Given the description of an element on the screen output the (x, y) to click on. 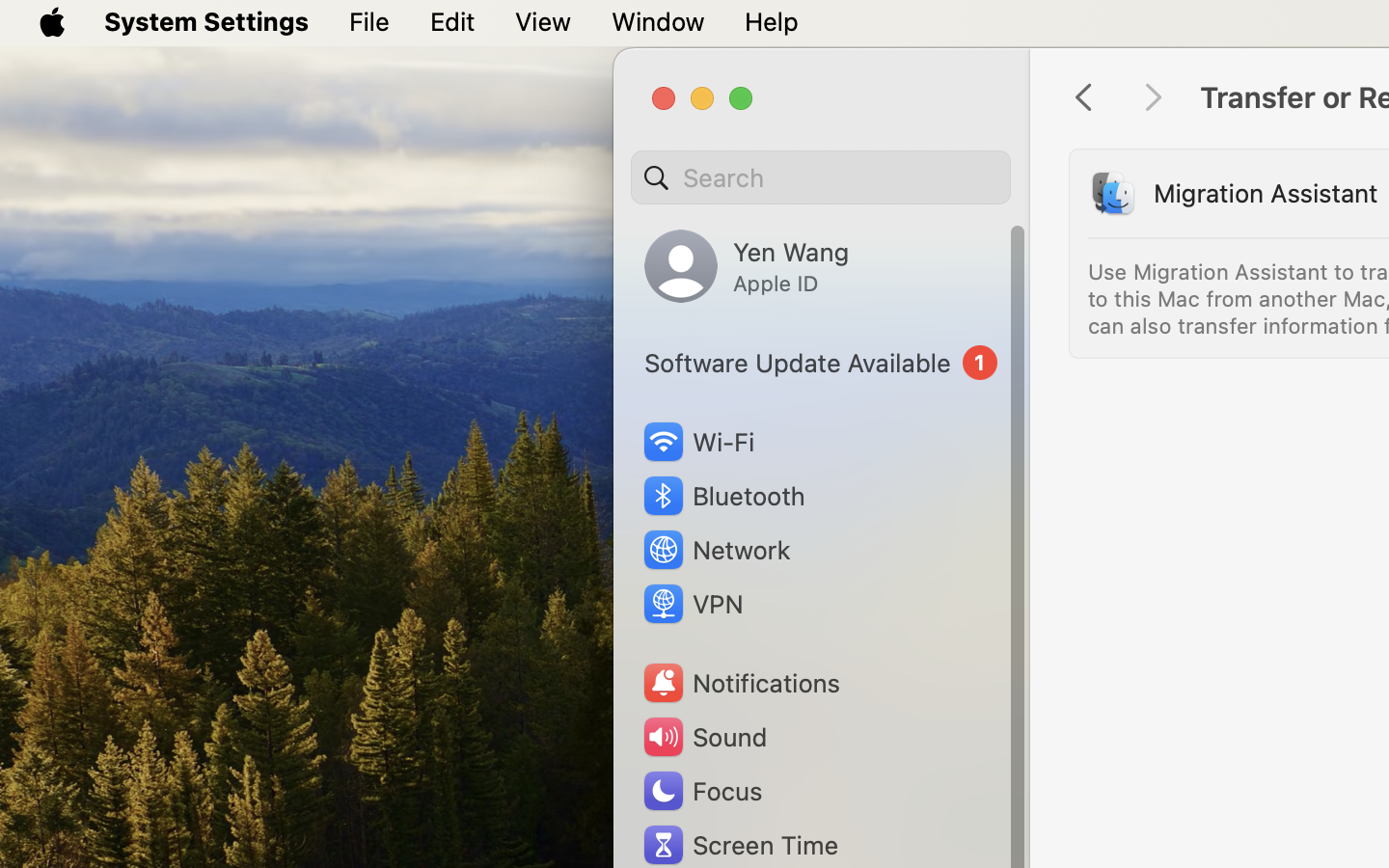
Migration Assistant Element type: AXStaticText (1265, 192)
